Given the description of an element on the screen output the (x, y) to click on. 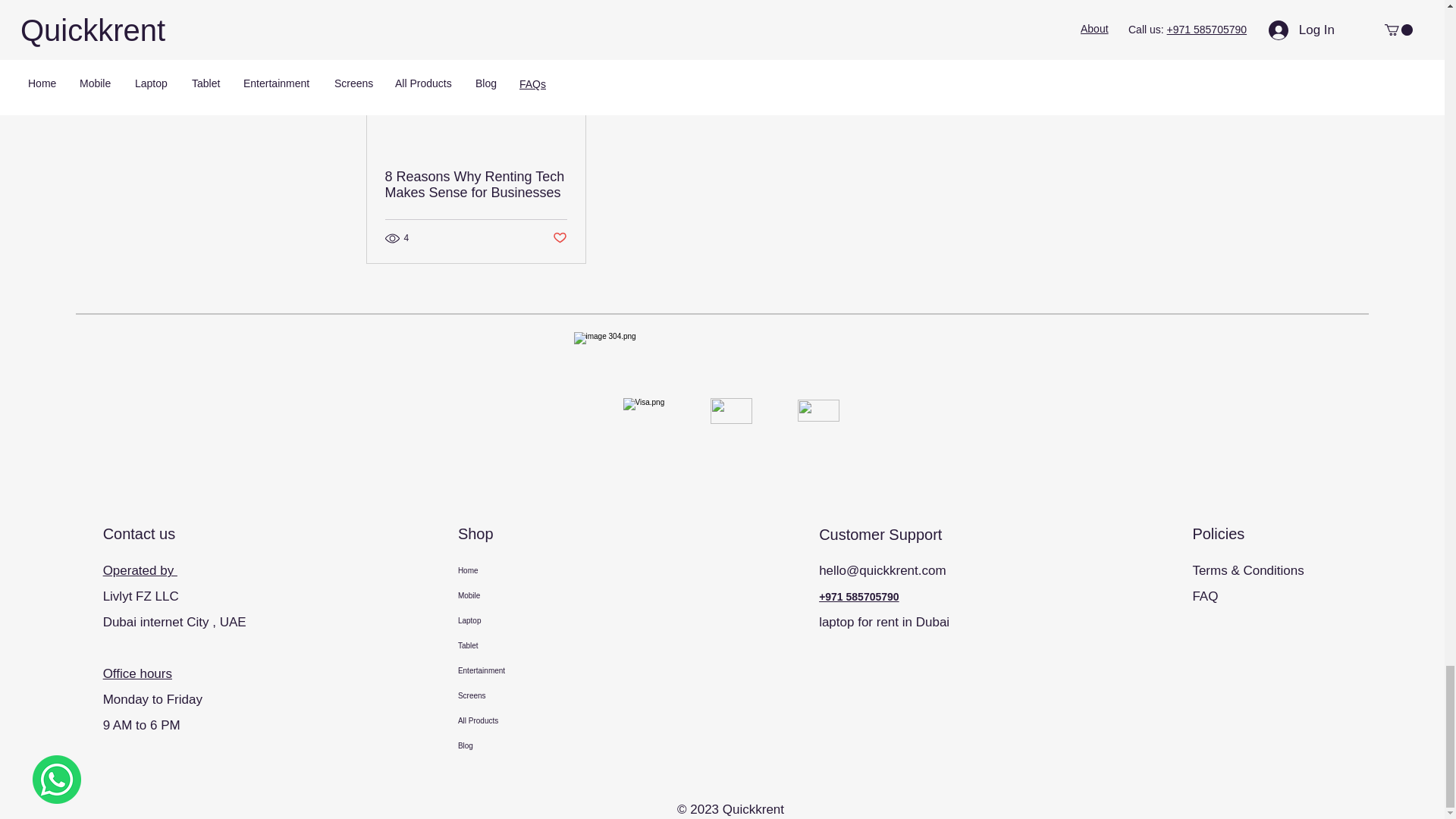
Laptop (541, 620)
See All (1061, 6)
All Products (541, 720)
Entertainment (541, 670)
Screens (541, 695)
Home (541, 570)
Mobile (541, 595)
Tablet (541, 645)
Post not marked as liked (558, 238)
8 Reasons Why Renting Tech Makes Sense for Businesses (476, 184)
Blog (541, 745)
